Given the description of an element on the screen output the (x, y) to click on. 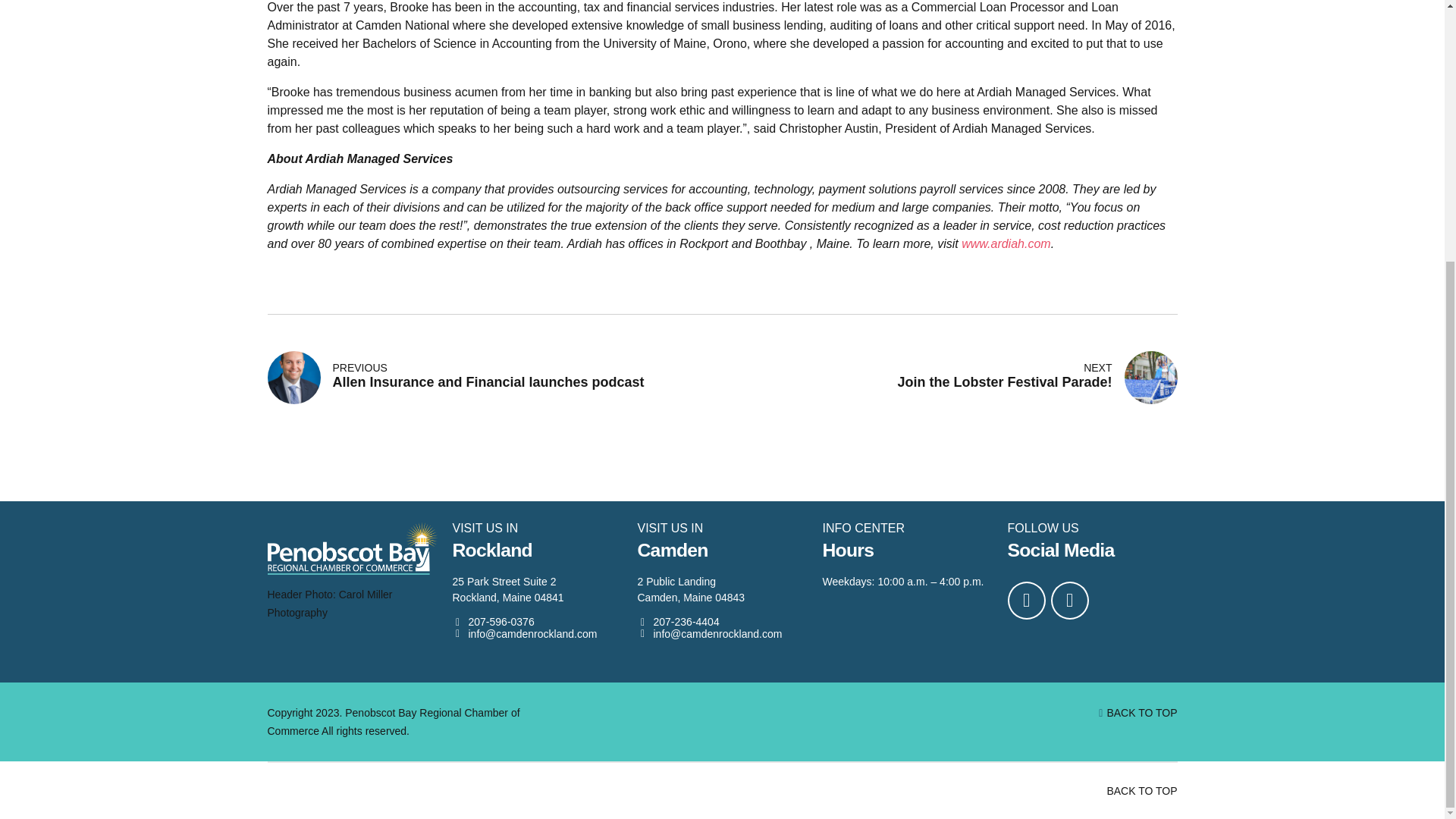
207-236-4404 (494, 377)
www.ardiah.com (678, 622)
BACK TO TOP (1004, 243)
207-596-0376 (1141, 791)
207-596-0376 (492, 622)
BACK TO TOP (492, 622)
207-236-4404 (1141, 712)
